Given the description of an element on the screen output the (x, y) to click on. 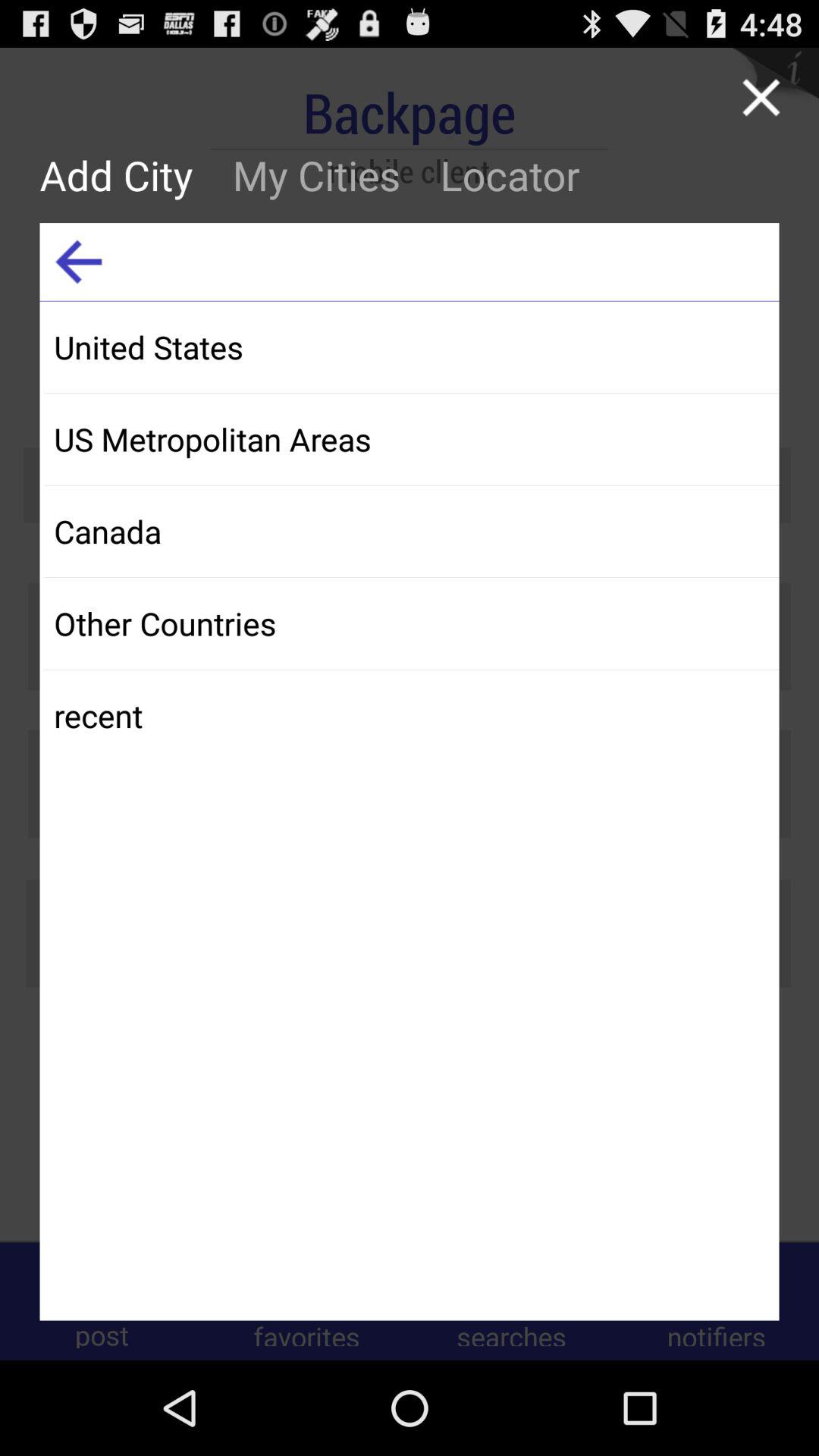
swipe until other countries app (411, 622)
